Given the description of an element on the screen output the (x, y) to click on. 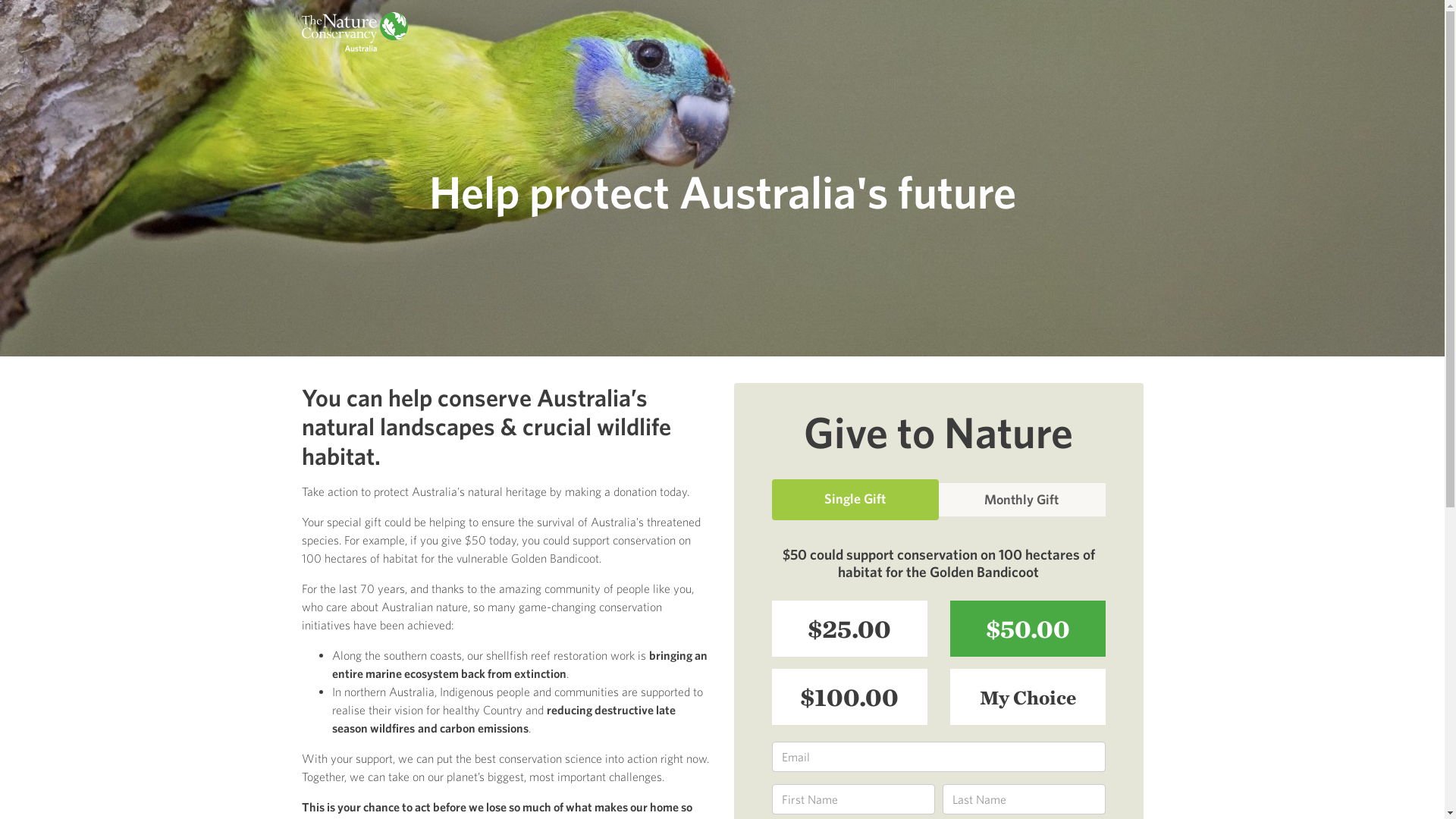
$50.00 Element type: text (1026, 628)
$100.00 Element type: text (849, 696)
$25.00 Element type: text (849, 628)
